Given the description of an element on the screen output the (x, y) to click on. 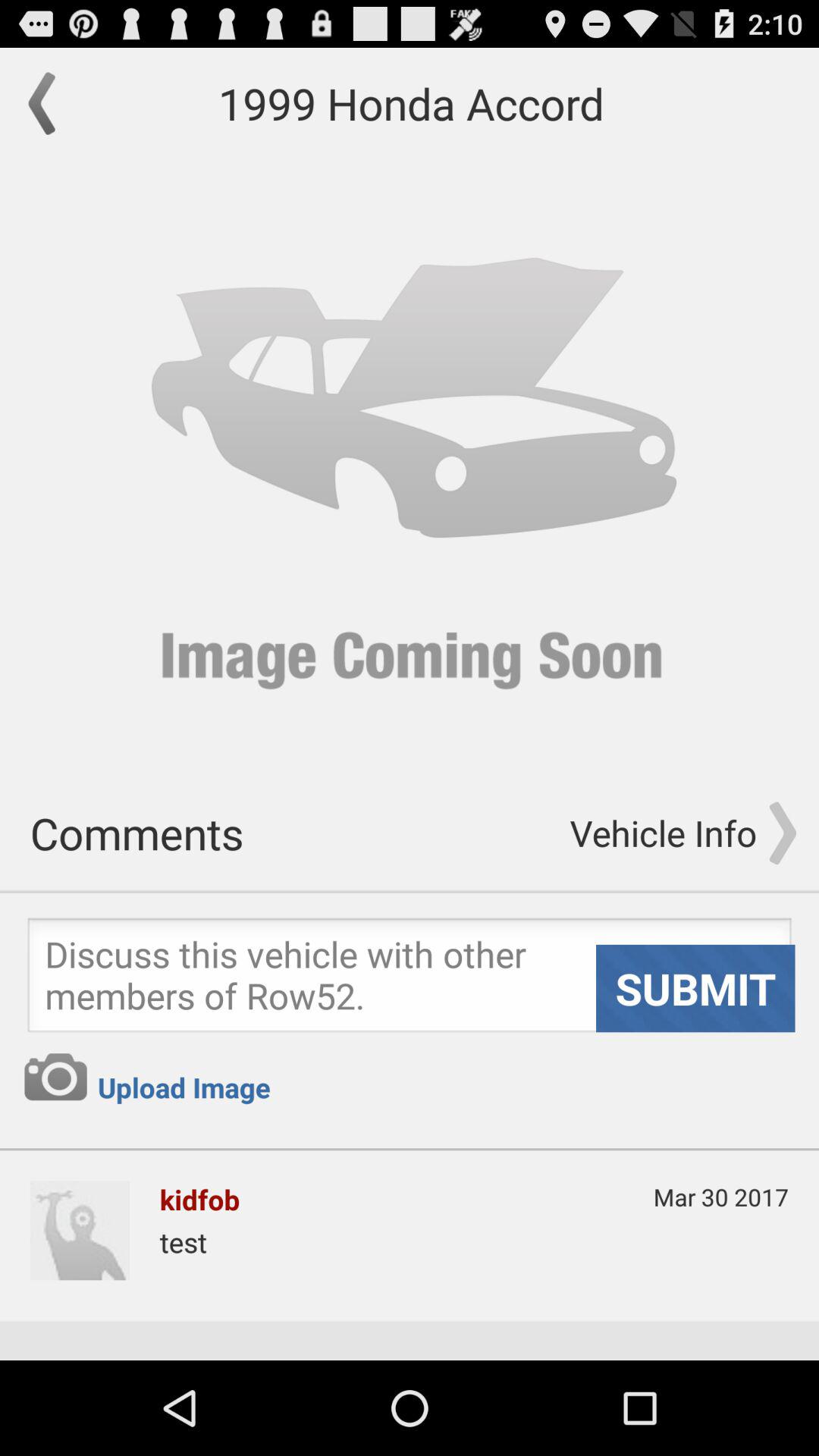
jump until the upload image app (183, 1087)
